Given the description of an element on the screen output the (x, y) to click on. 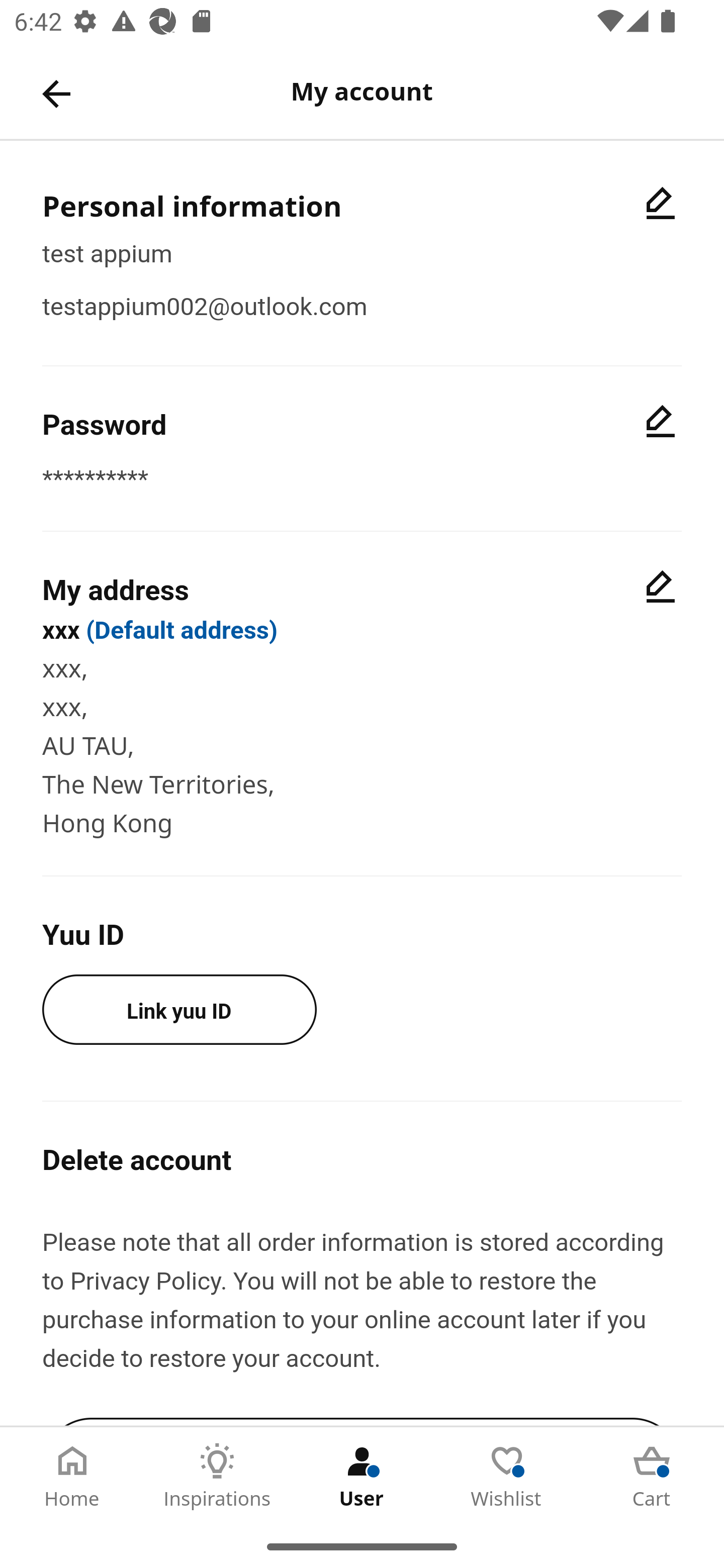
Link yuu ID (179, 1008)
Home
Tab 1 of 5 (72, 1476)
Inspirations
Tab 2 of 5 (216, 1476)
User
Tab 3 of 5 (361, 1476)
Wishlist
Tab 4 of 5 (506, 1476)
Cart
Tab 5 of 5 (651, 1476)
